Given the description of an element on the screen output the (x, y) to click on. 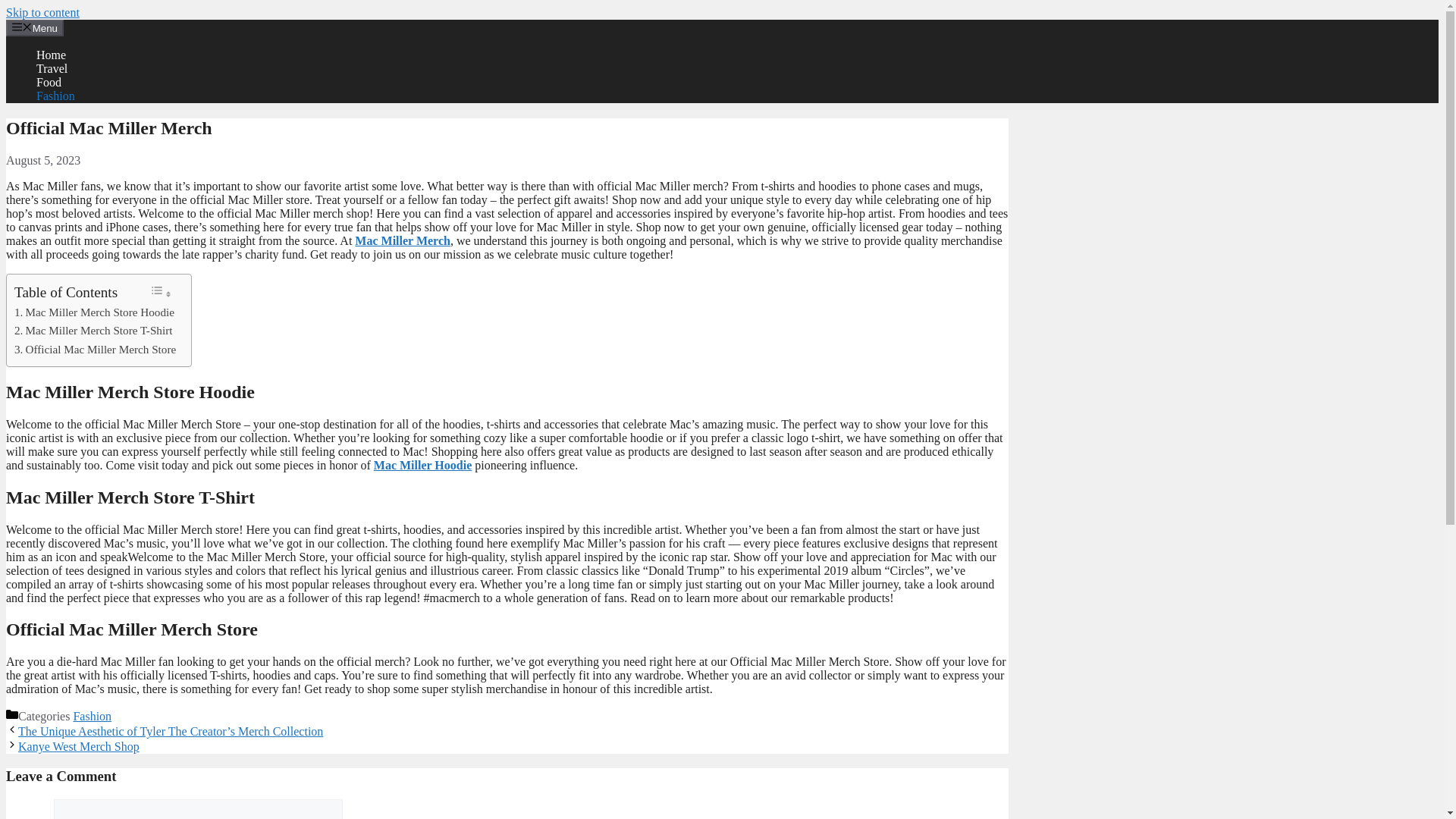
Travel (51, 68)
Mac Miller Merch Store Hoodie (94, 312)
Food (48, 82)
Mac Miller Hoodie (422, 464)
Mac Miller Merch Store T-Shirt (92, 330)
Mac Miller Merch Store Hoodie (94, 312)
Mac Miller Merch (402, 240)
Fashion (55, 95)
Kanye West Merch Shop (78, 746)
Fashion (92, 716)
